Given the description of an element on the screen output the (x, y) to click on. 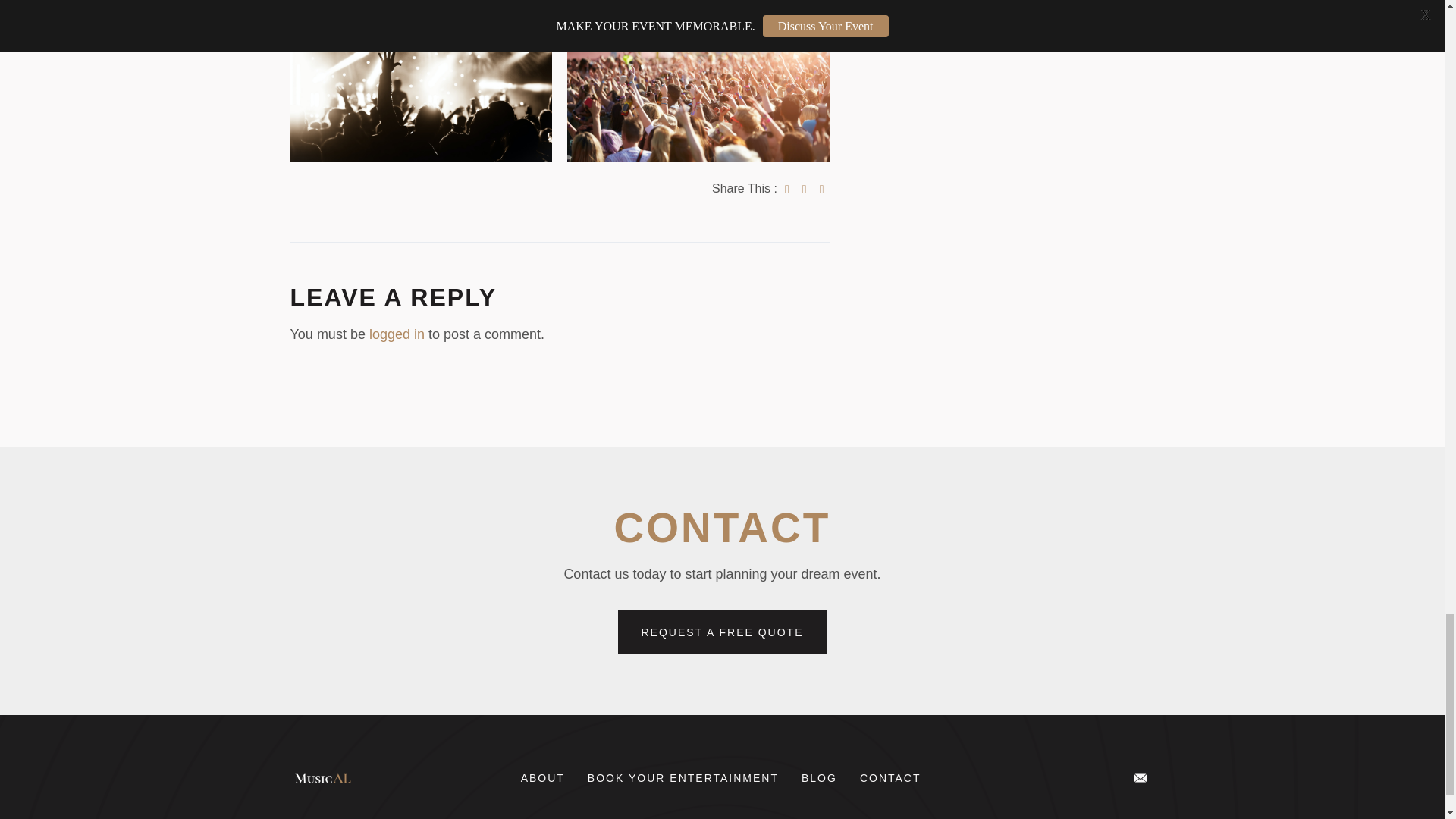
BLOG (819, 778)
CONTACT (890, 778)
BOOK YOUR ENTERTAINMENT (683, 778)
ABOUT (542, 778)
logged in (397, 334)
REQUEST A FREE QUOTE (721, 632)
